Given the description of an element on the screen output the (x, y) to click on. 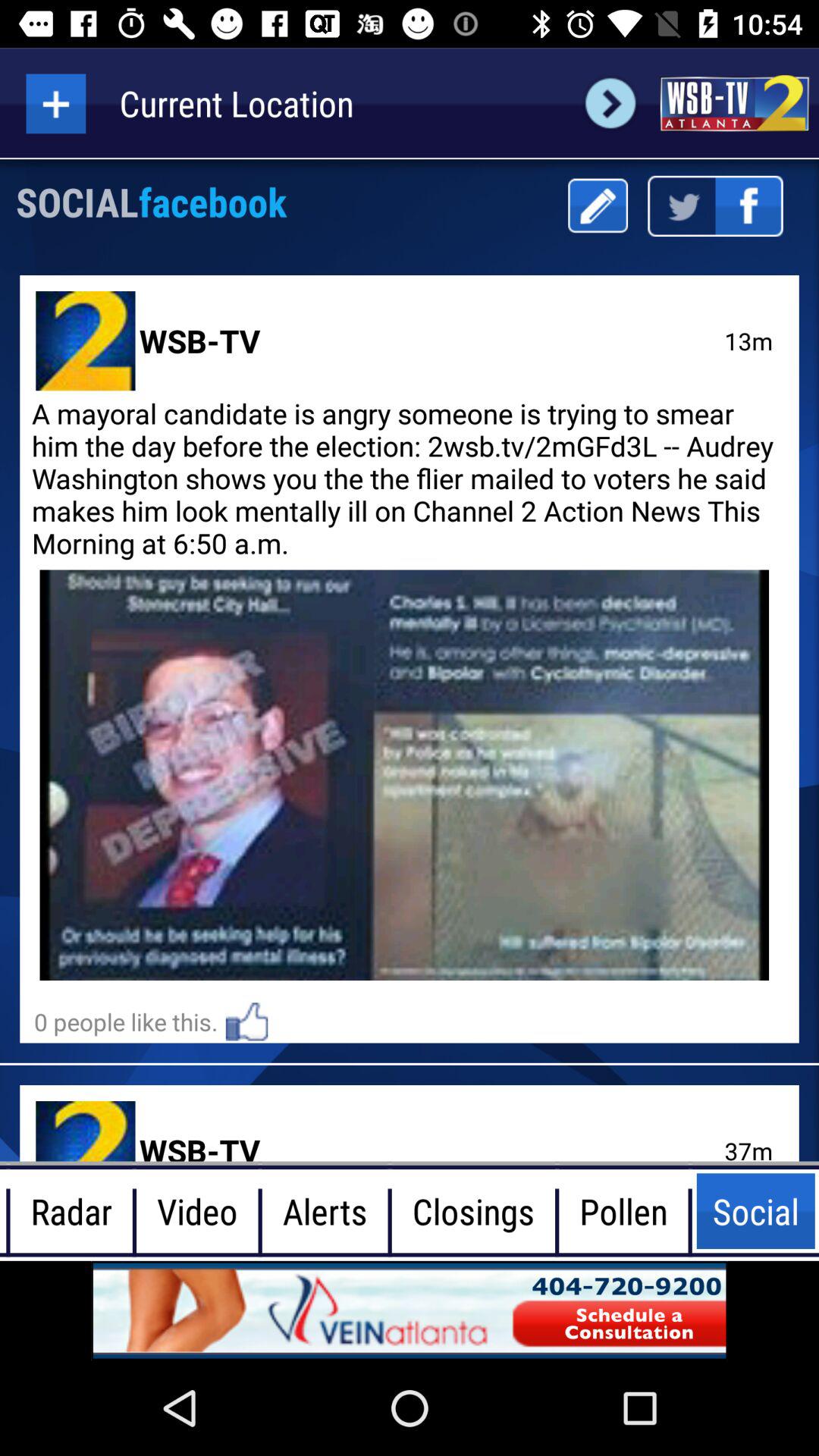
go to next page (610, 103)
